Given the description of an element on the screen output the (x, y) to click on. 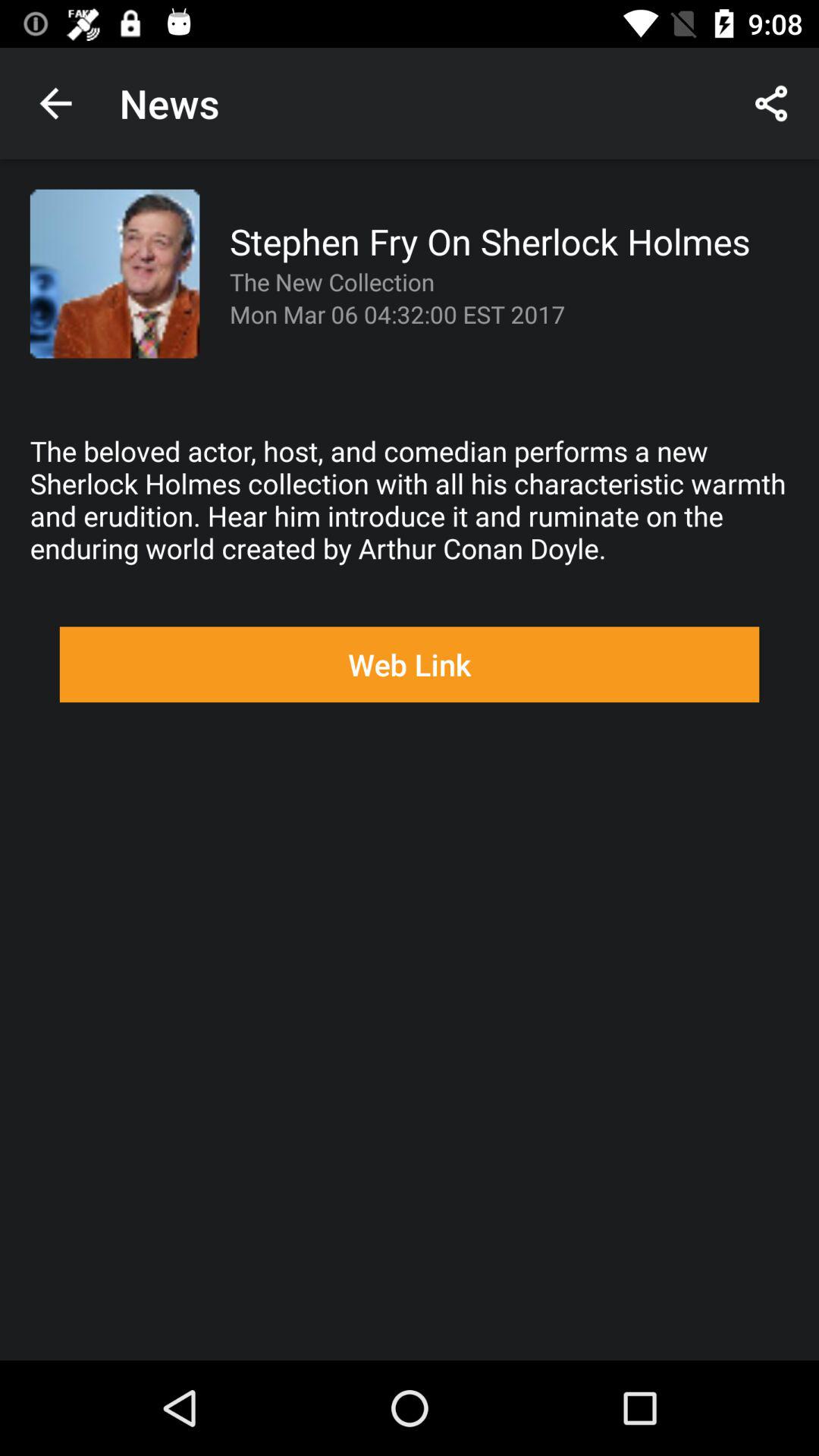
press app to the left of news item (55, 103)
